Given the description of an element on the screen output the (x, y) to click on. 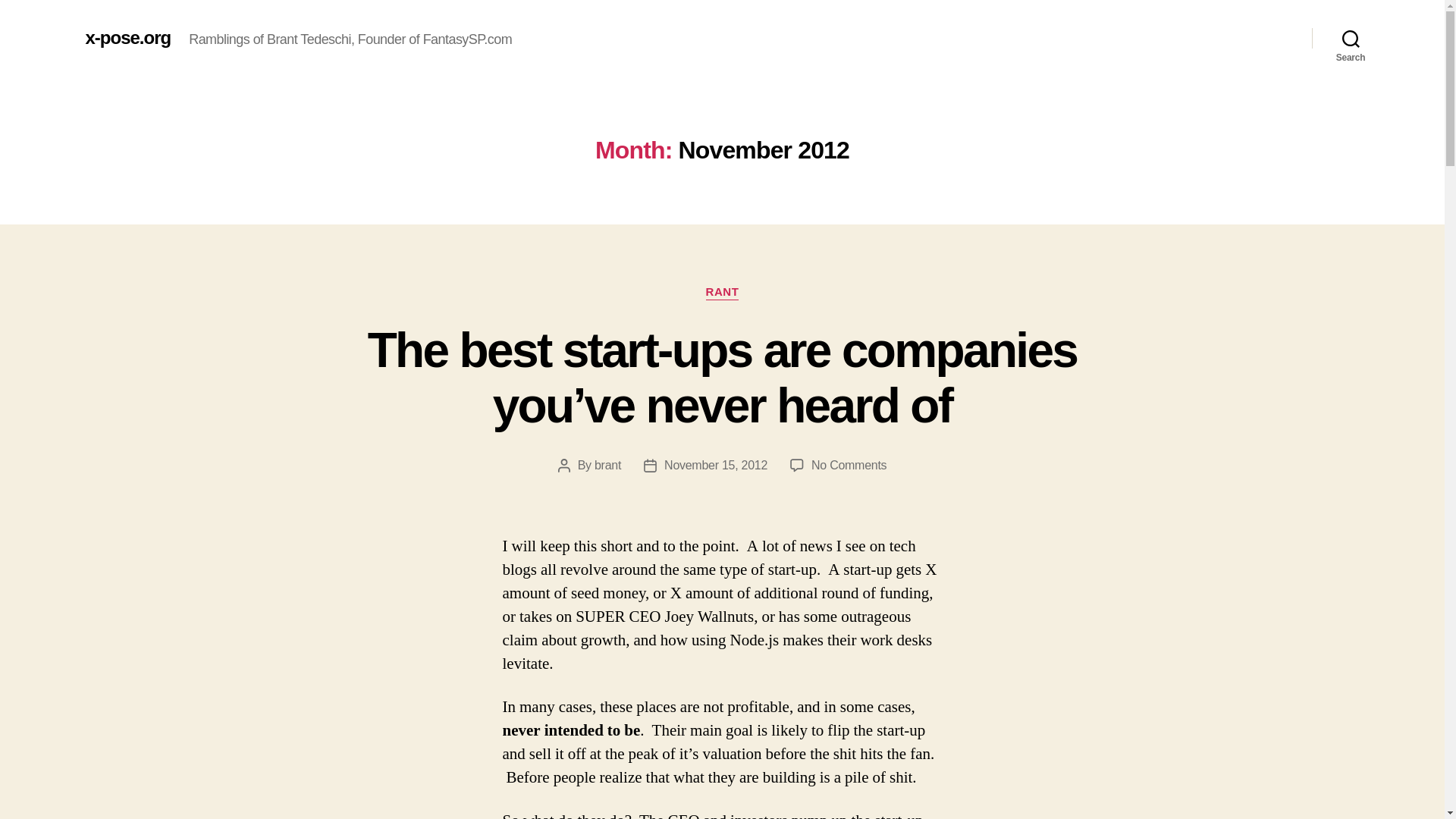
x-pose.org (127, 37)
RANT (722, 292)
November 15, 2012 (715, 464)
brant (607, 464)
Search (1350, 37)
